Given the description of an element on the screen output the (x, y) to click on. 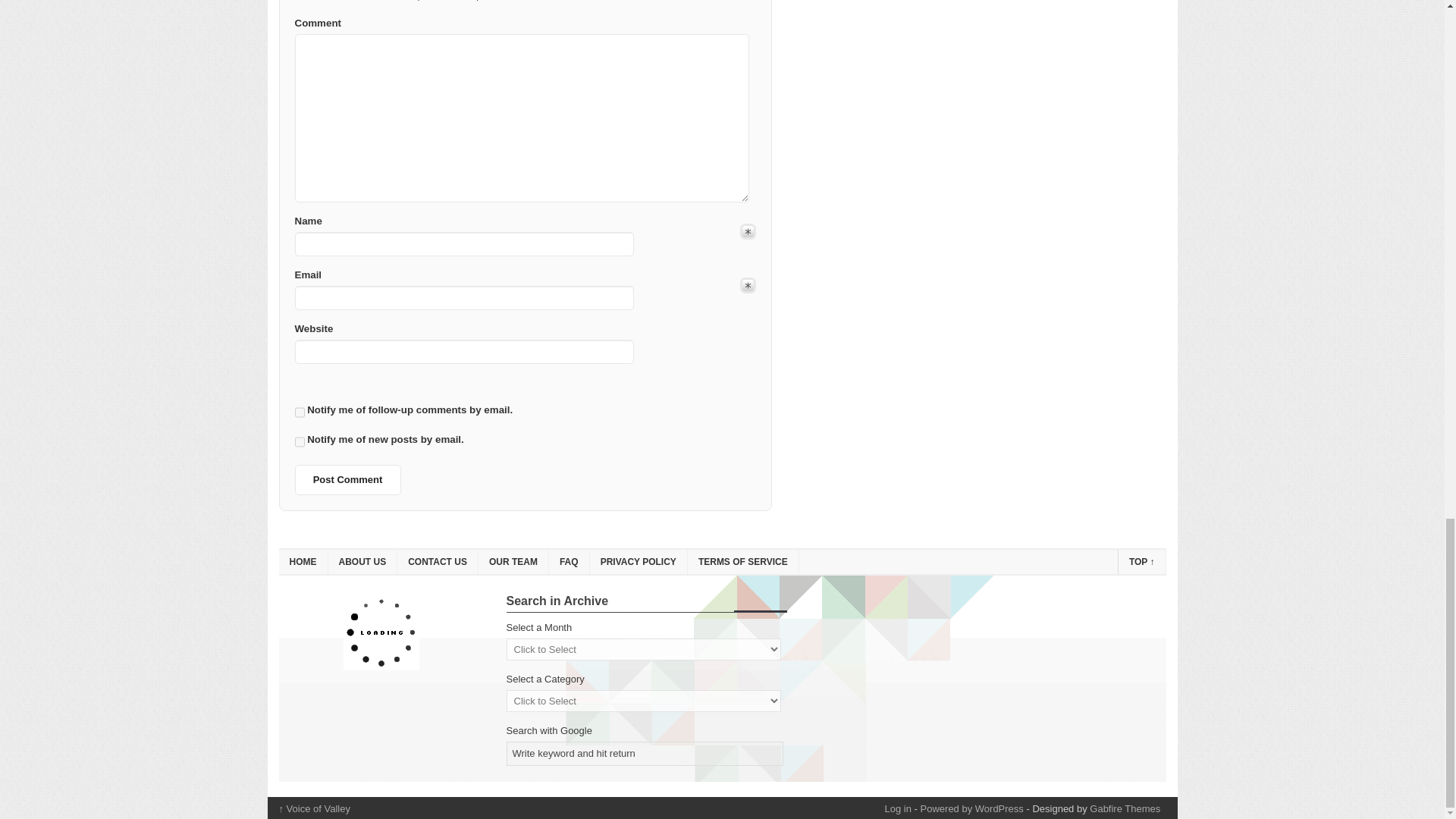
Write keyword and hit return (645, 753)
Post Comment (347, 480)
